Given the description of an element on the screen output the (x, y) to click on. 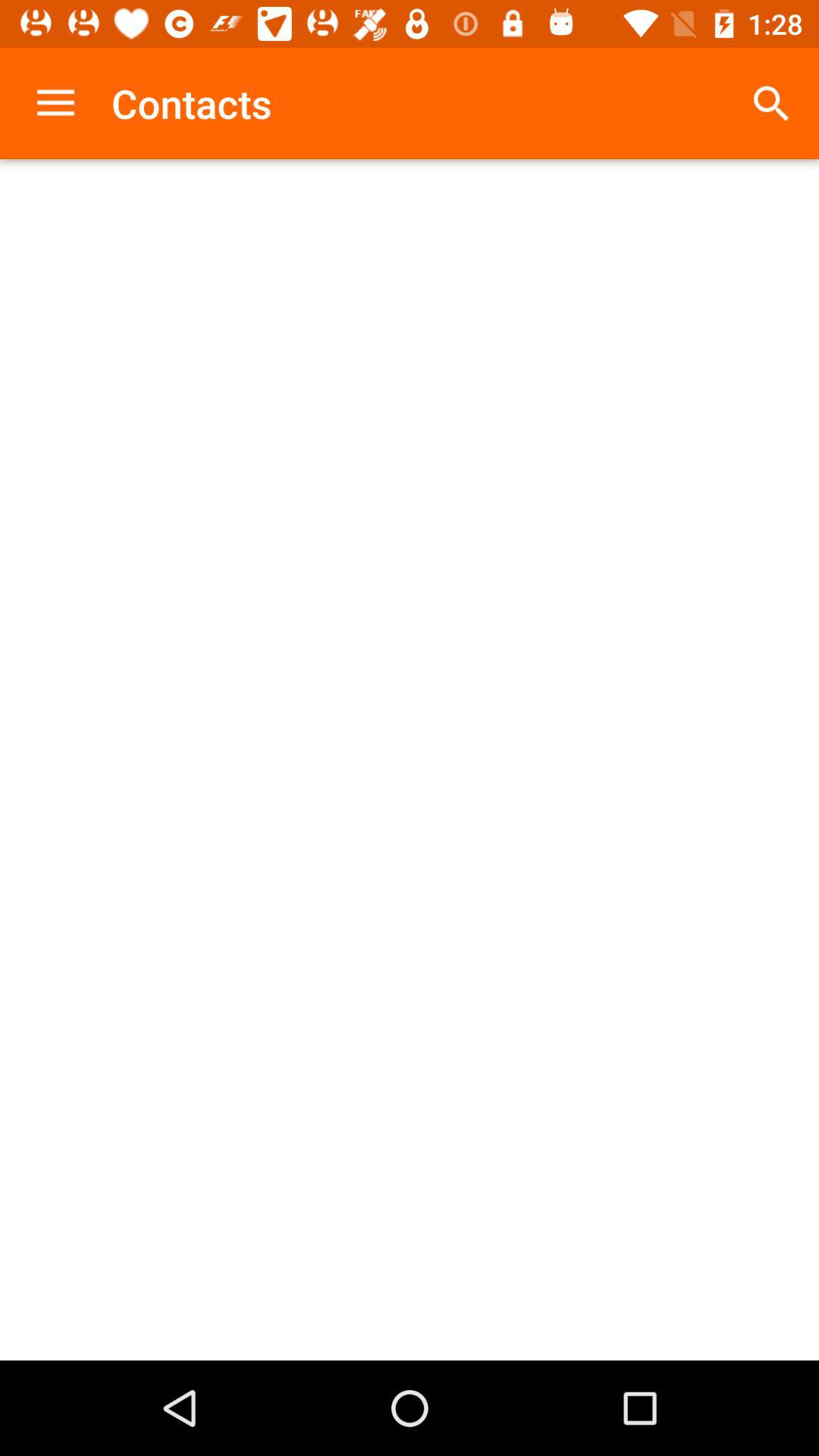
choose item at the top right corner (771, 103)
